Given the description of an element on the screen output the (x, y) to click on. 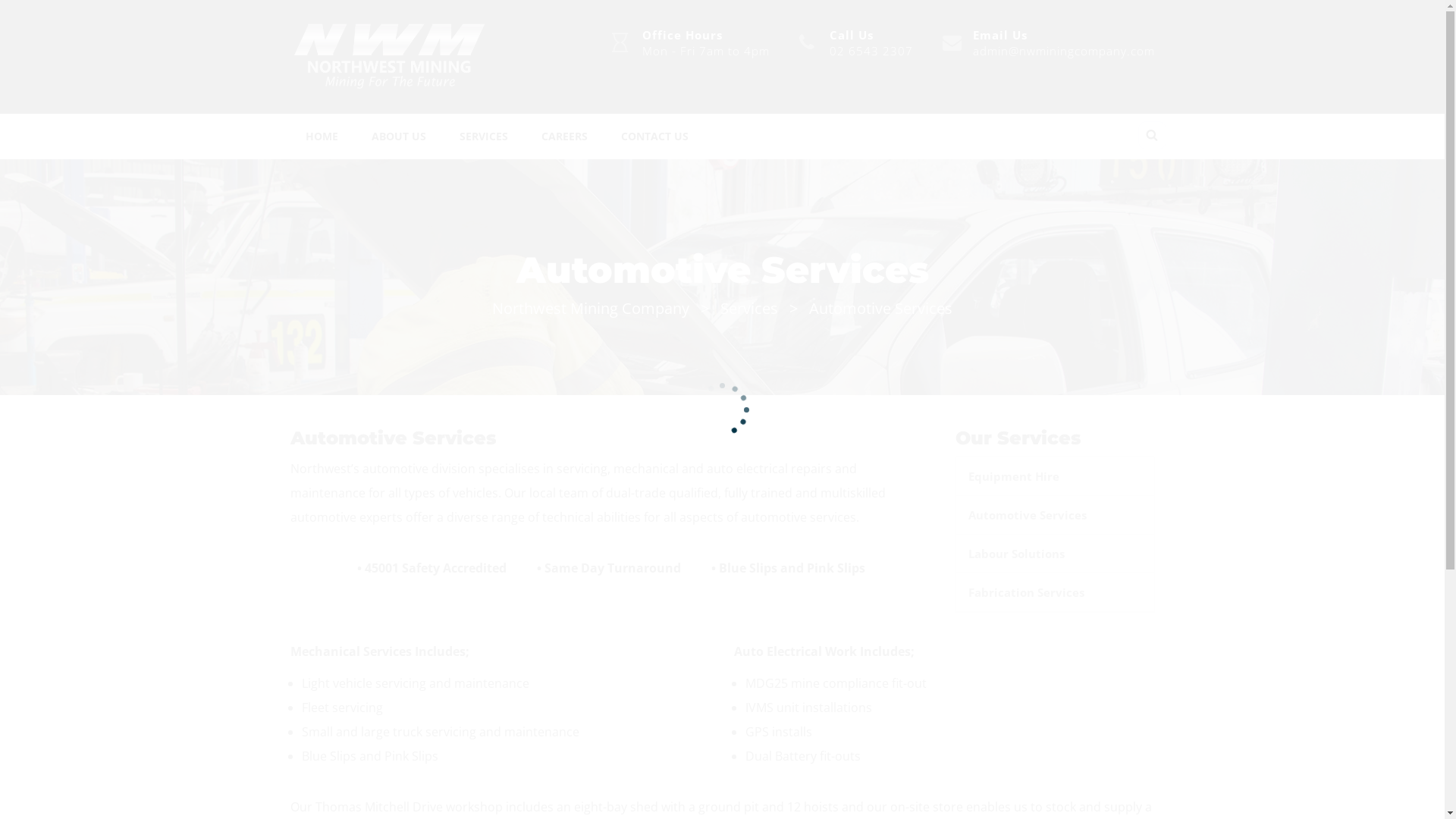
Automotive Services Element type: text (1055, 514)
Equipment Hire Element type: text (1055, 476)
Services Element type: text (749, 308)
SERVICES Element type: text (483, 136)
ABOUT US Element type: text (398, 136)
HOME Element type: text (320, 136)
CONTACT US Element type: text (653, 136)
CAREERS Element type: text (564, 136)
Fabrication Services Element type: text (1055, 592)
Search Element type: text (4, 17)
Northwest Mining Company Element type: text (590, 308)
Labour Solutions Element type: text (1055, 553)
